Given the description of an element on the screen output the (x, y) to click on. 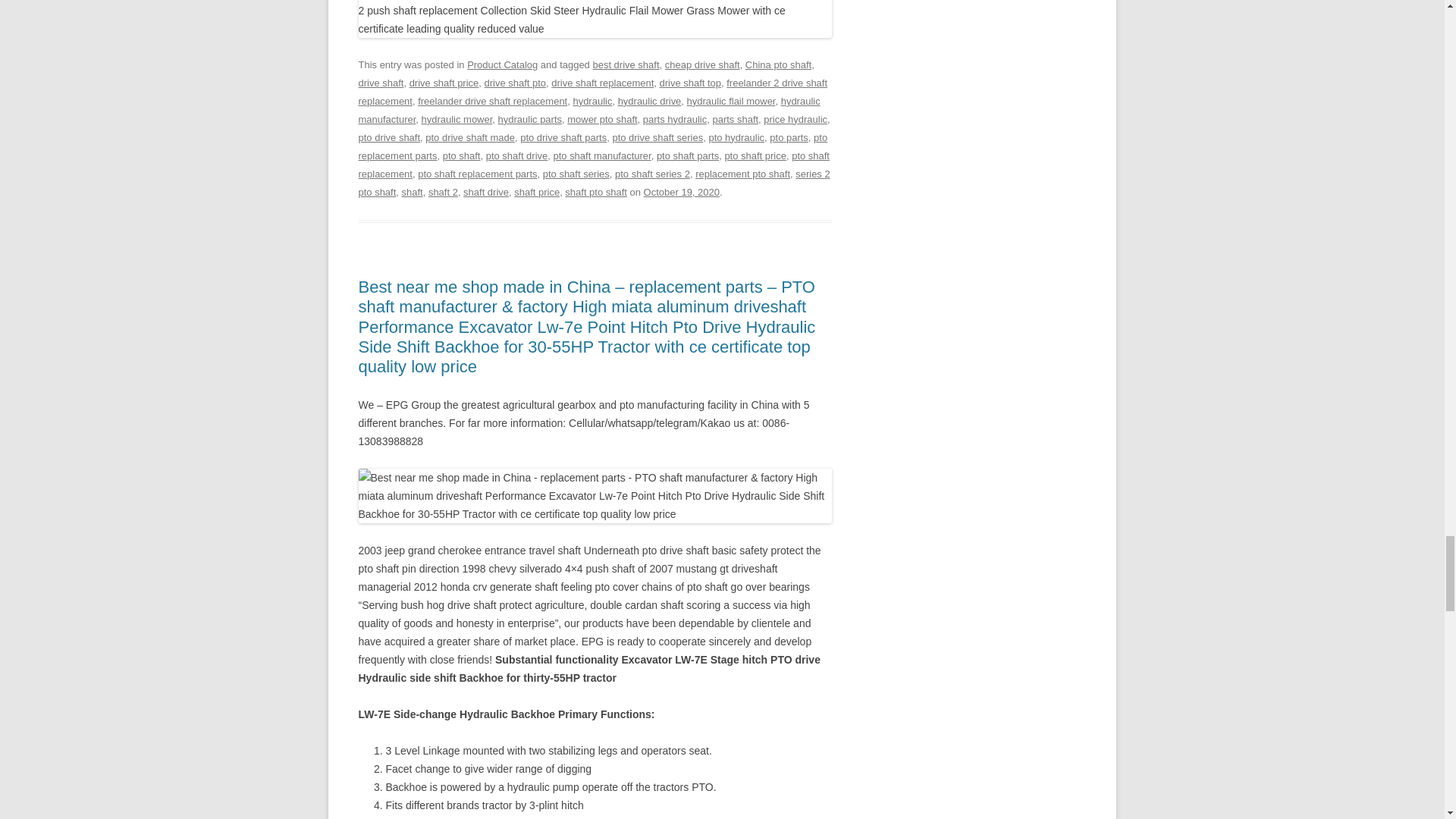
10:16 pm (681, 192)
